Given the description of an element on the screen output the (x, y) to click on. 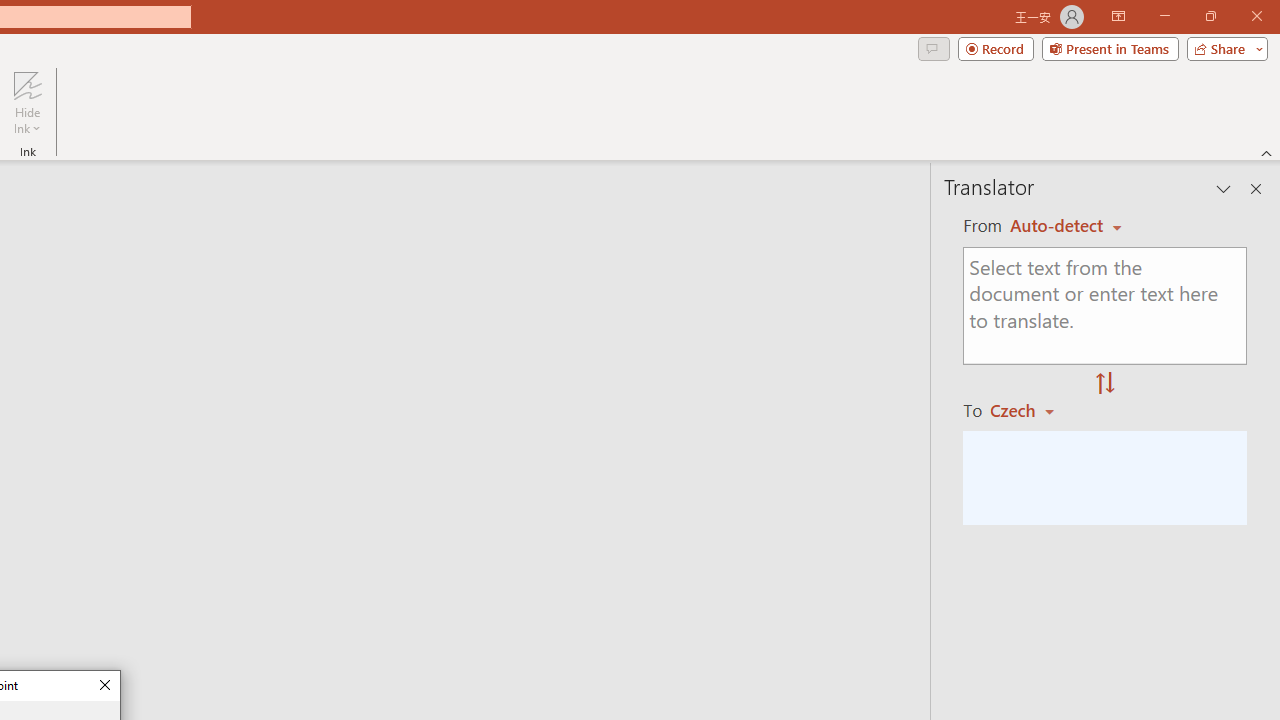
Czech (1030, 409)
Auto-detect (1066, 225)
